Given the description of an element on the screen output the (x, y) to click on. 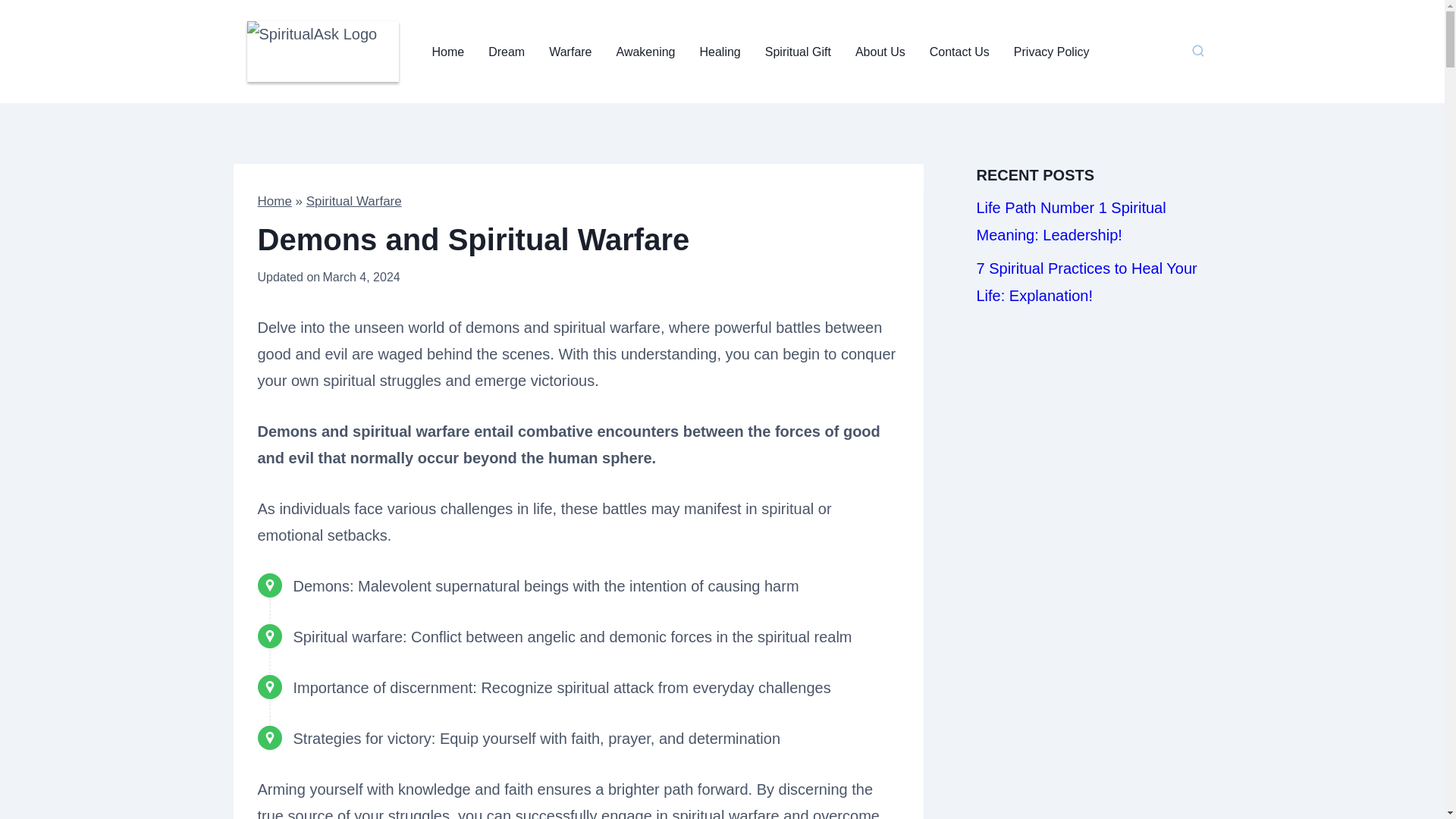
Healing (719, 51)
Spiritual Gift (797, 51)
Contact Us (959, 51)
Spiritual Warfare (353, 201)
Privacy Policy (1051, 51)
Home (274, 201)
About Us (880, 51)
Dream (506, 51)
Awakening (645, 51)
Home (448, 51)
Warfare (570, 51)
